Given the description of an element on the screen output the (x, y) to click on. 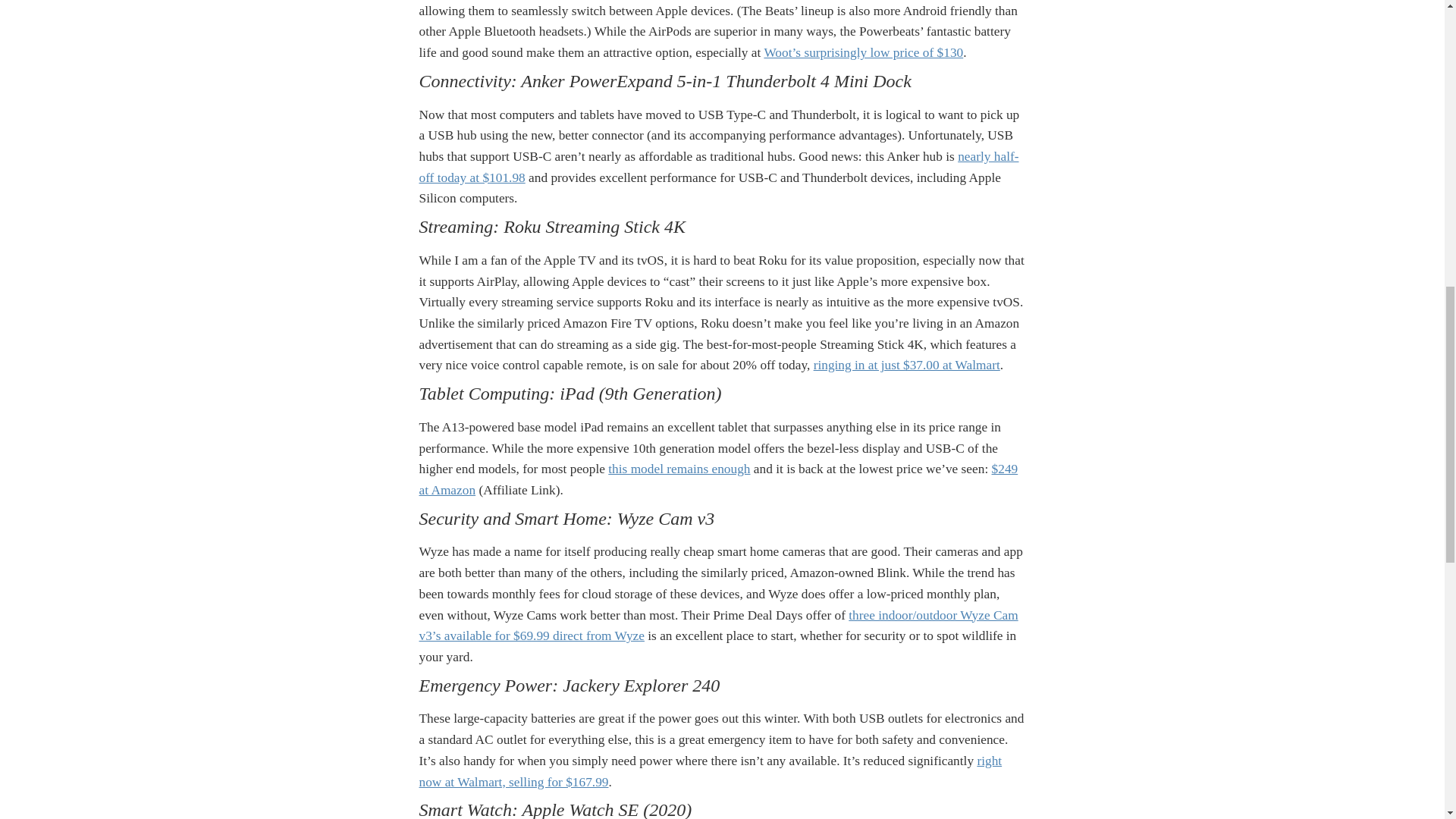
this model remains enough (678, 468)
